Given the description of an element on the screen output the (x, y) to click on. 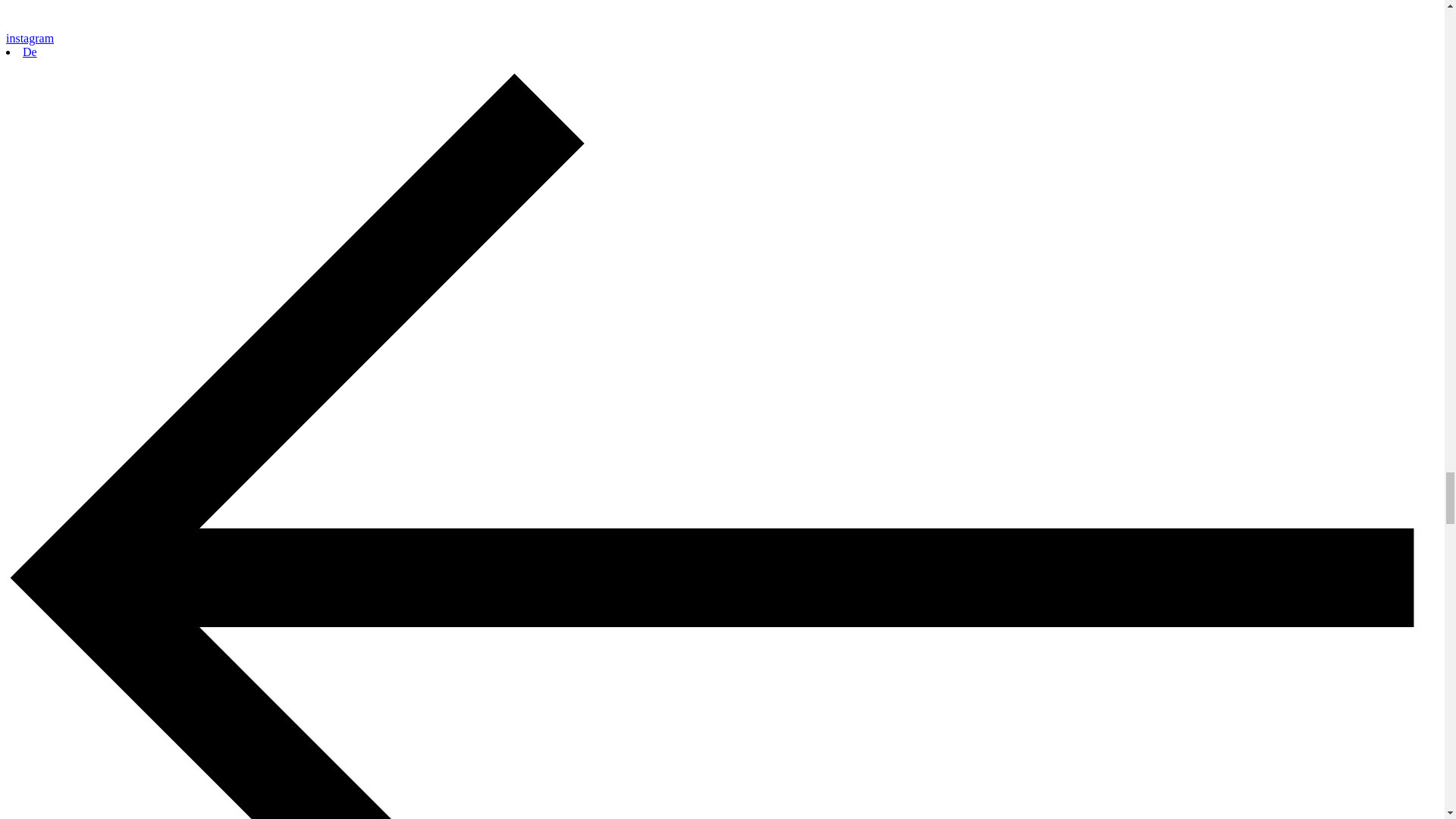
De (30, 51)
